Given the description of an element on the screen output the (x, y) to click on. 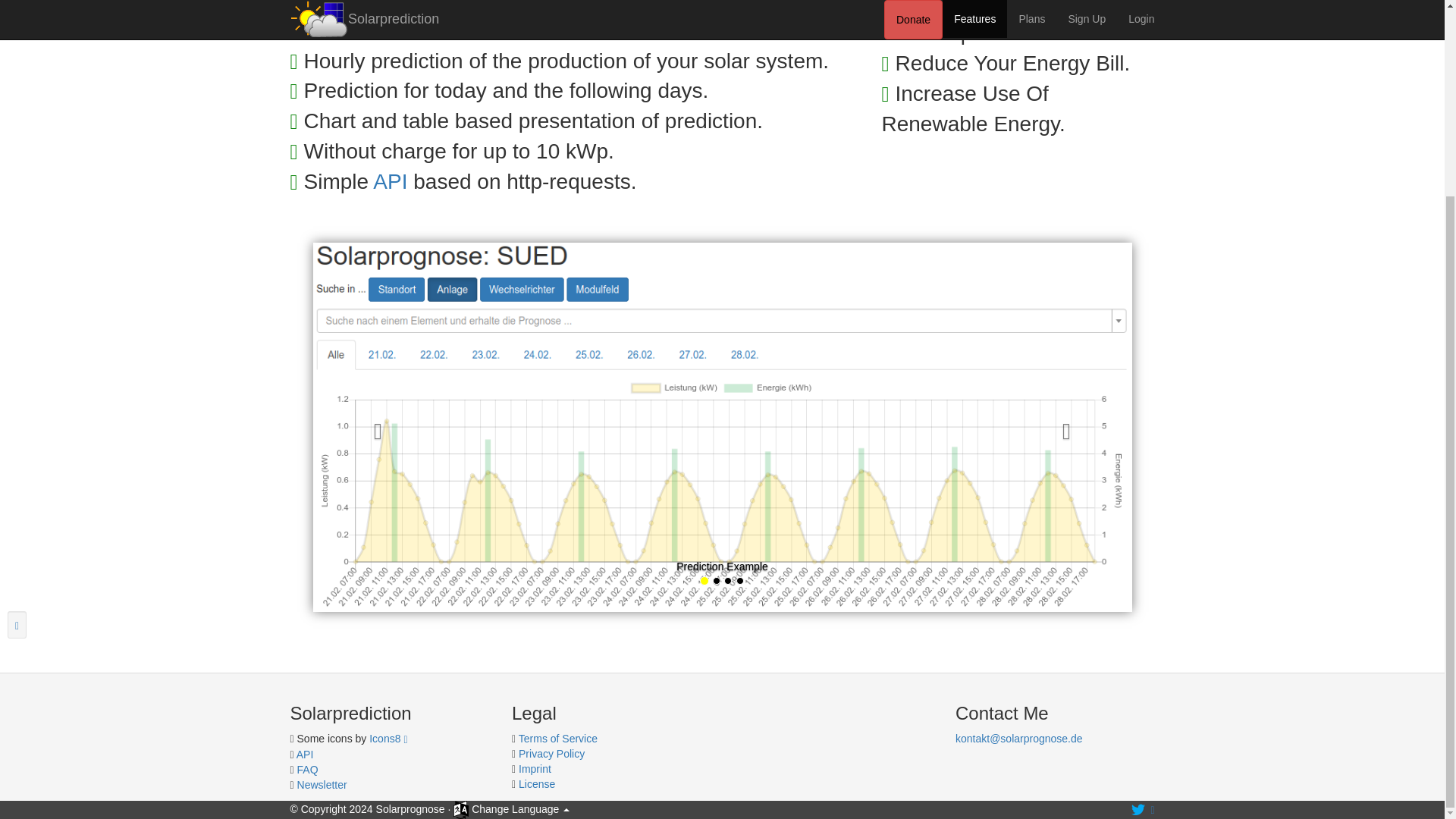
Read the documentation of the API. (389, 181)
Newsletter (322, 784)
FAQ (307, 769)
License (536, 784)
Change Language (510, 808)
Icons8 (388, 738)
Terms of Service (557, 738)
Privacy Policy (551, 753)
API (389, 181)
API (305, 754)
